Given the description of an element on the screen output the (x, y) to click on. 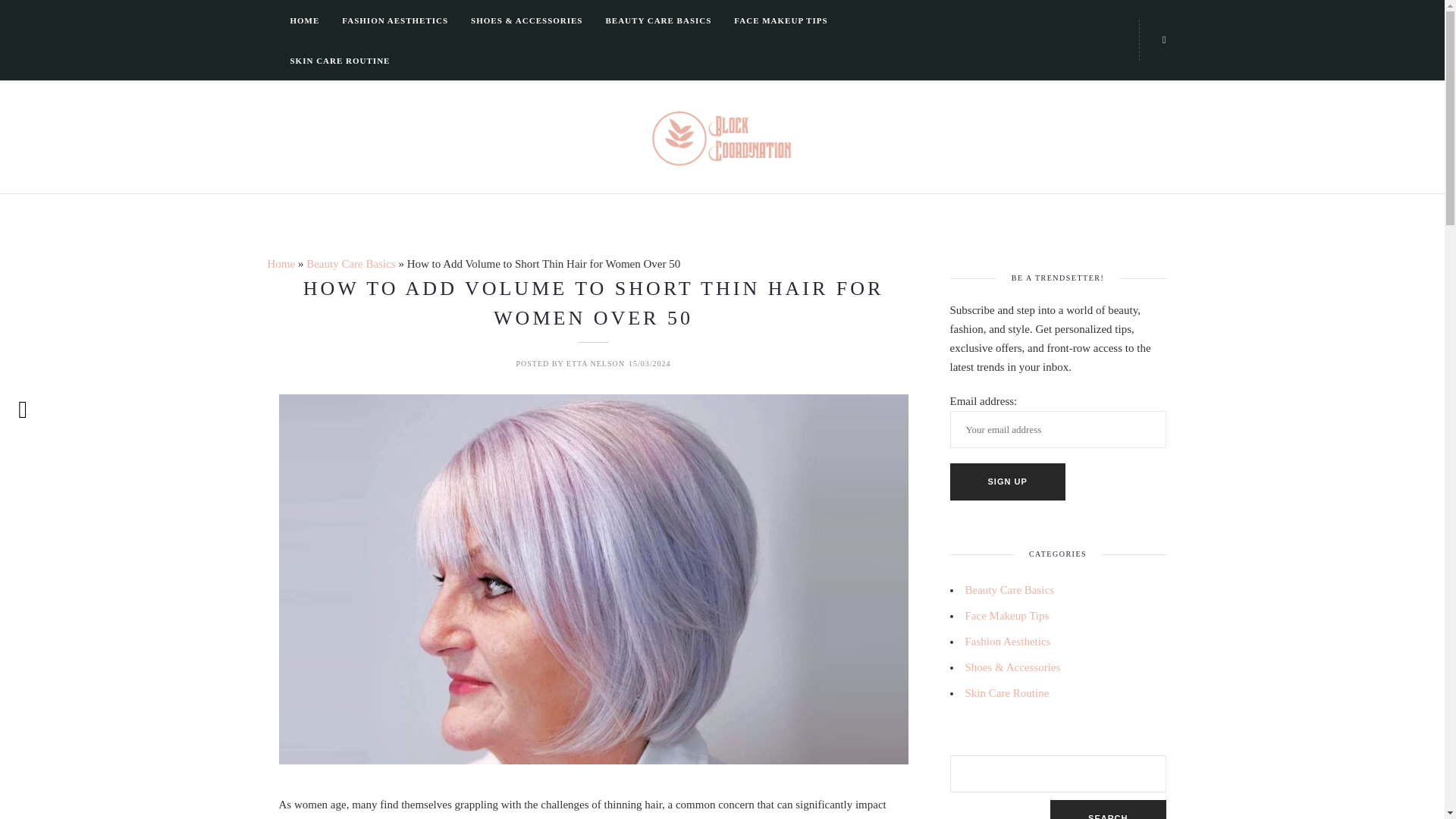
Sign up (1006, 481)
FACE MAKEUP TIPS (780, 20)
Home (280, 263)
Face Makeup Tips (1005, 615)
Home (280, 263)
Beauty Care Basics (349, 263)
Beauty Care Basics (1007, 589)
HOME (303, 20)
FASHION AESTHETICS (395, 20)
BEAUTY CARE BASICS (658, 20)
